Given the description of an element on the screen output the (x, y) to click on. 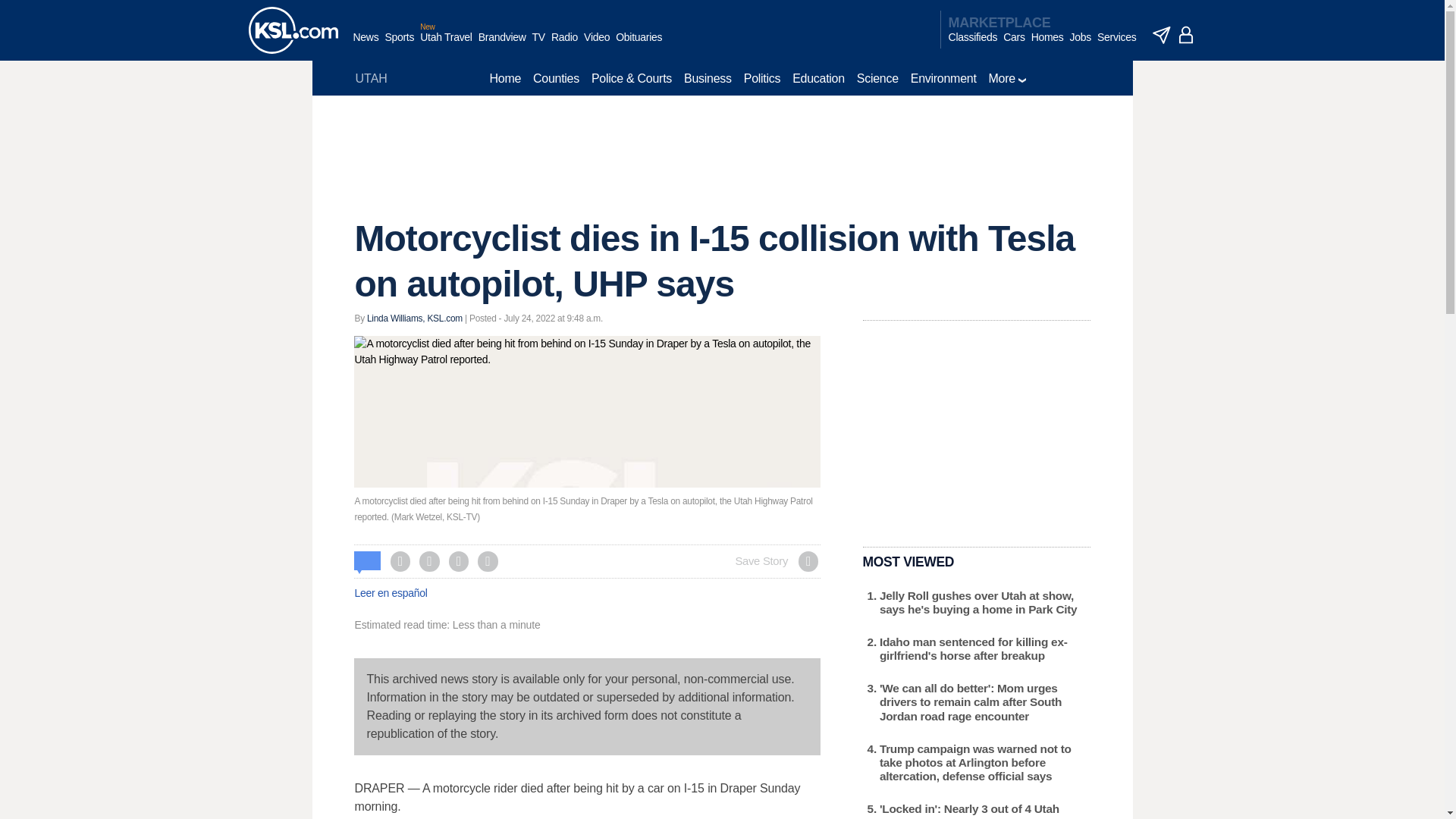
KSL homepage (292, 29)
Utah Travel (445, 45)
account - logged out (1185, 34)
KSL homepage (292, 30)
Sports (398, 45)
Brandview (502, 45)
